Given the description of an element on the screen output the (x, y) to click on. 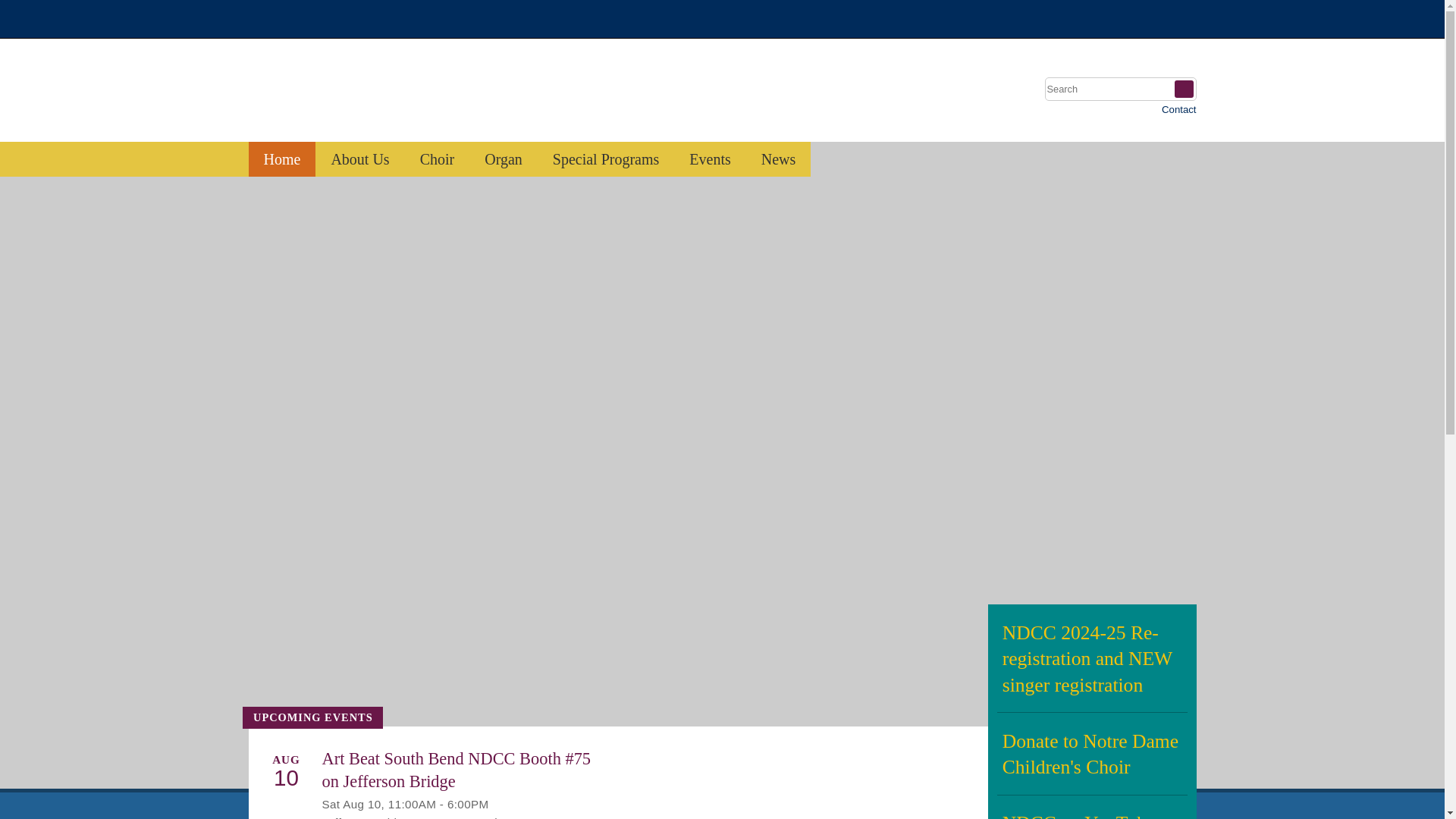
Contact (1178, 109)
University Notre Dame (362, 18)
Donate to Notre Dame Children's Choir (1091, 752)
Choir (437, 158)
Organ (502, 158)
NDCC 2024-25 Re-registration and NEW singer registration (1091, 657)
College Arts Letters (1076, 18)
UPCOMING EVENTS (312, 717)
NDCC on YouTube (1091, 807)
Events (709, 158)
Special Programs (606, 158)
News (777, 158)
Sat Aug 10, 11:00AM -  6:00PM (404, 803)
Home (281, 158)
Notre Dame Children's Choir (409, 95)
